Given the description of an element on the screen output the (x, y) to click on. 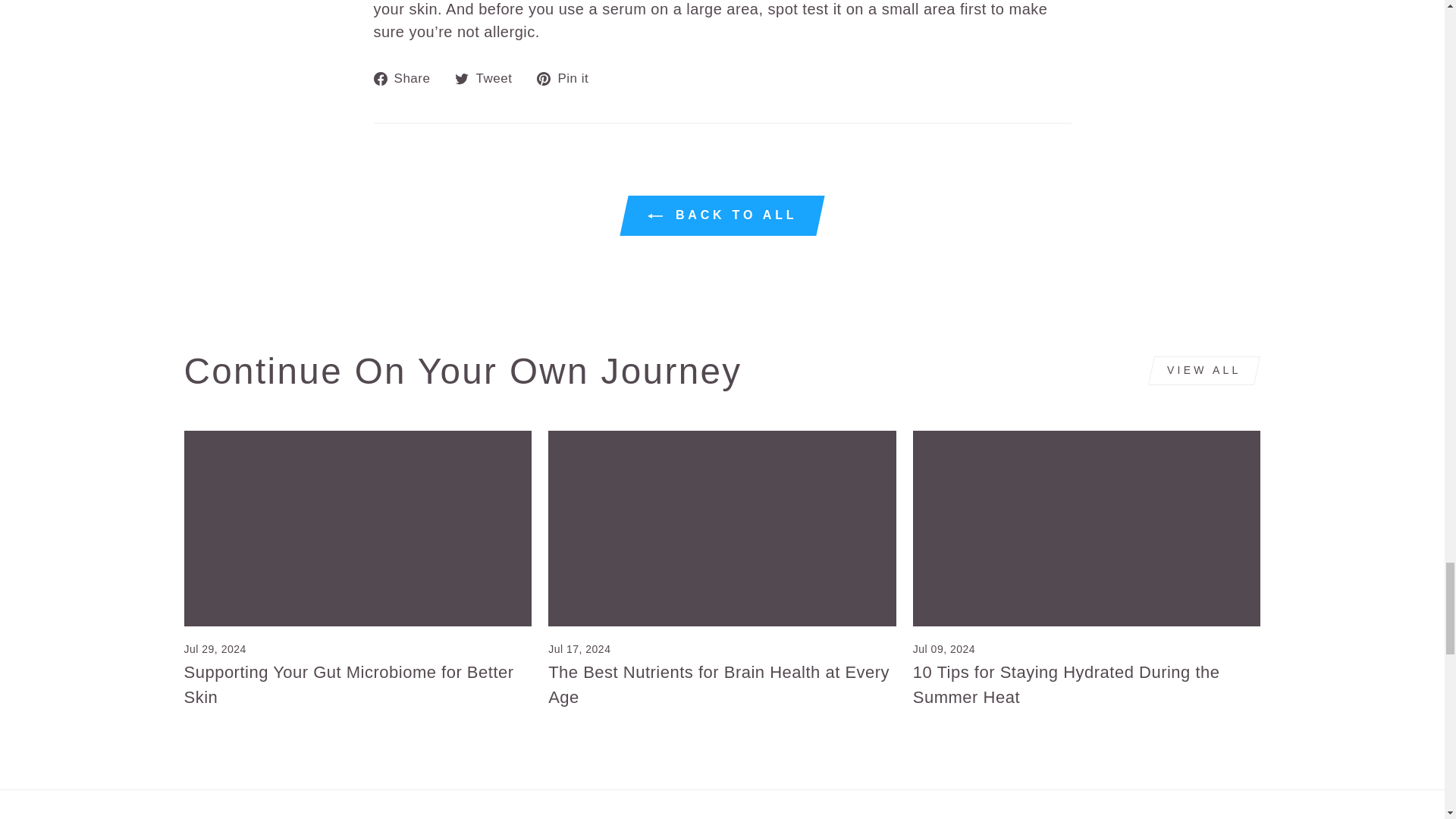
Share on Facebook (406, 77)
Pin on Pinterest (568, 77)
Tweet on Twitter (488, 77)
